Given the description of an element on the screen output the (x, y) to click on. 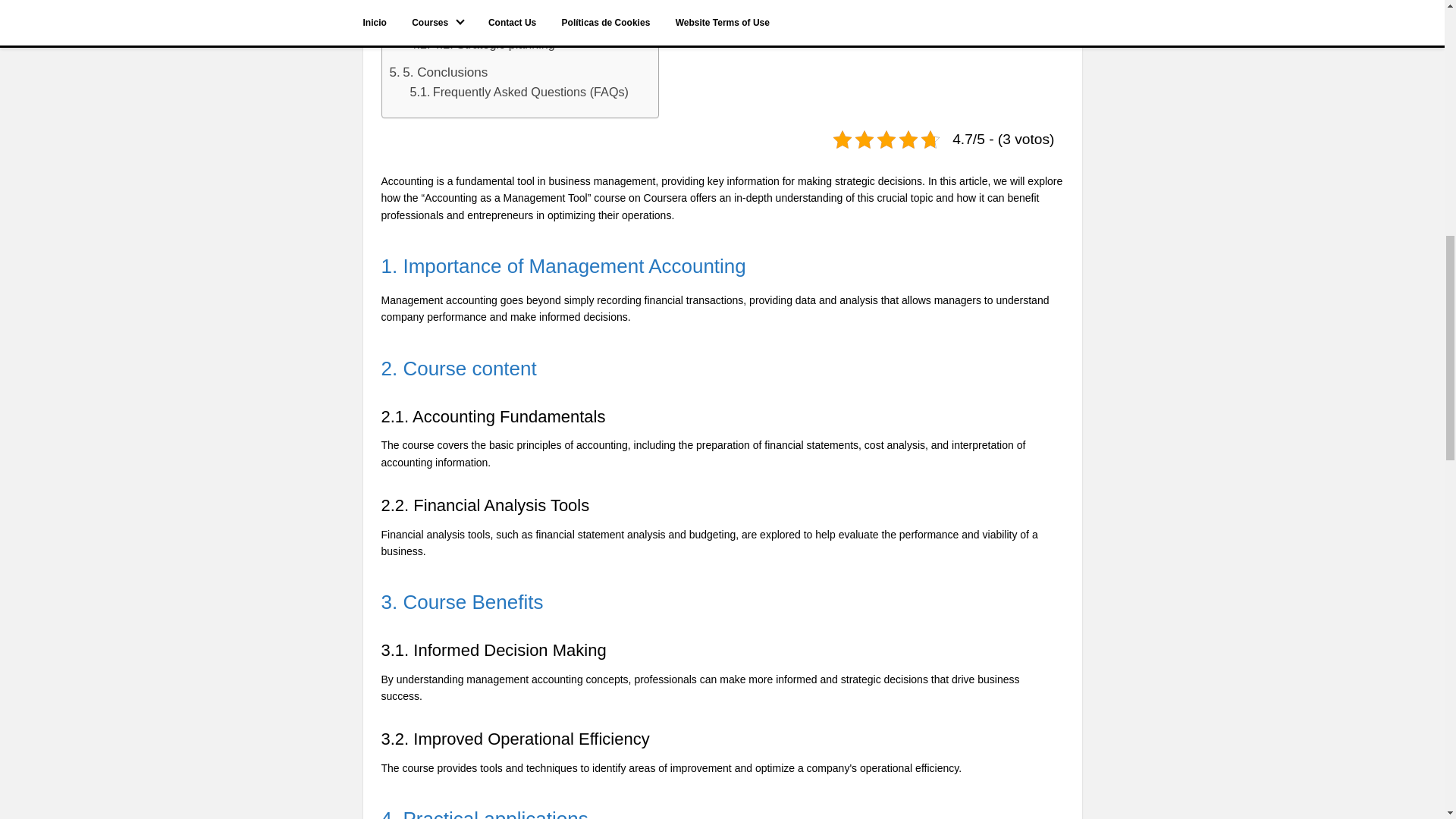
4. Practical applications (464, 7)
4.2. Strategic planning (481, 44)
4.1. Cost Management (482, 25)
4. Practical applications (464, 7)
5. Conclusions (438, 72)
5. Conclusions (438, 72)
4.1. Cost Management (482, 25)
4.2. Strategic planning (481, 44)
